Given the description of an element on the screen output the (x, y) to click on. 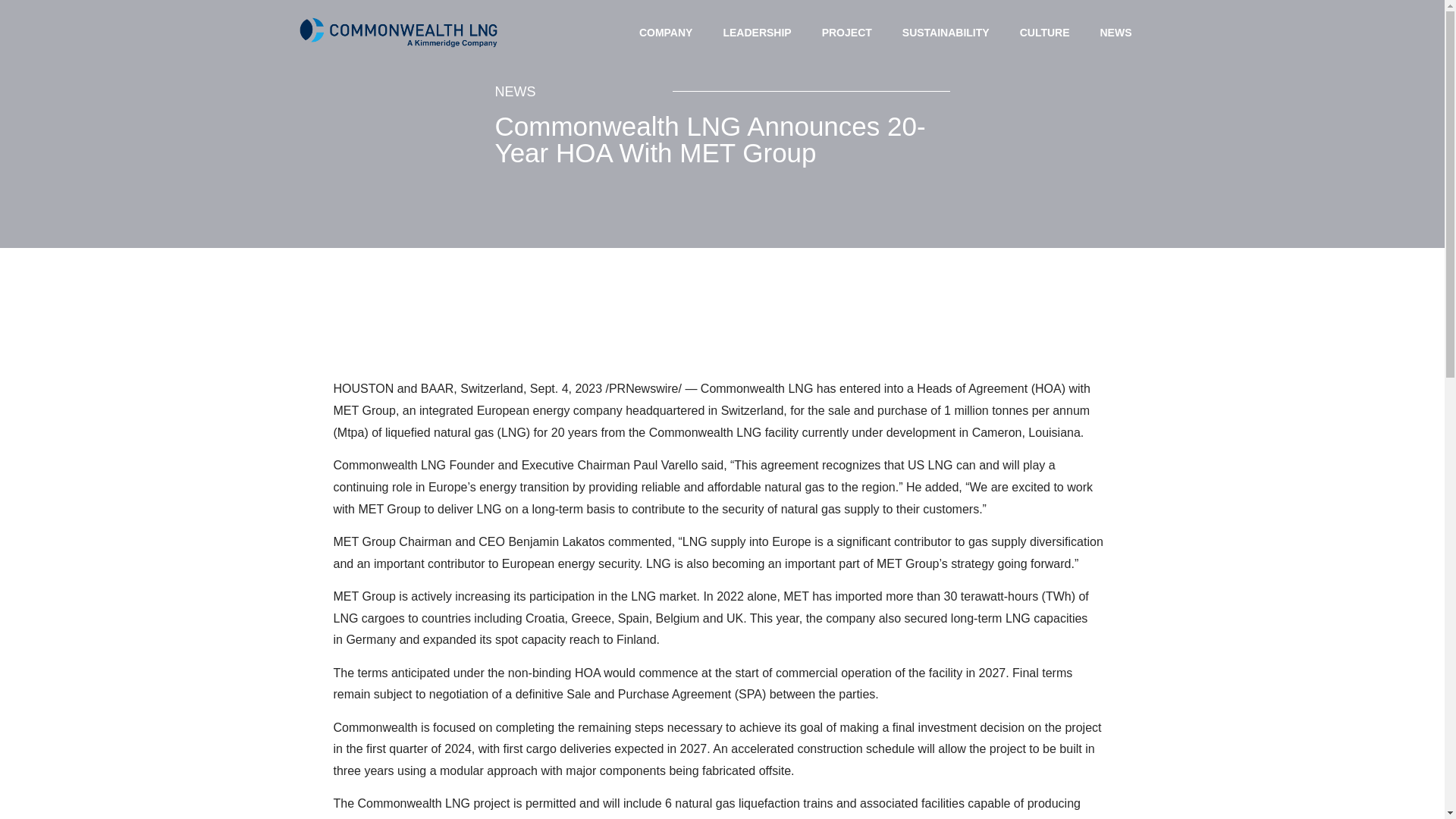
CULTURE (1044, 32)
NEWS (1115, 32)
SUSTAINABILITY (945, 32)
LEADERSHIP (756, 32)
PROJECT (846, 32)
COMPANY (665, 32)
